Given the description of an element on the screen output the (x, y) to click on. 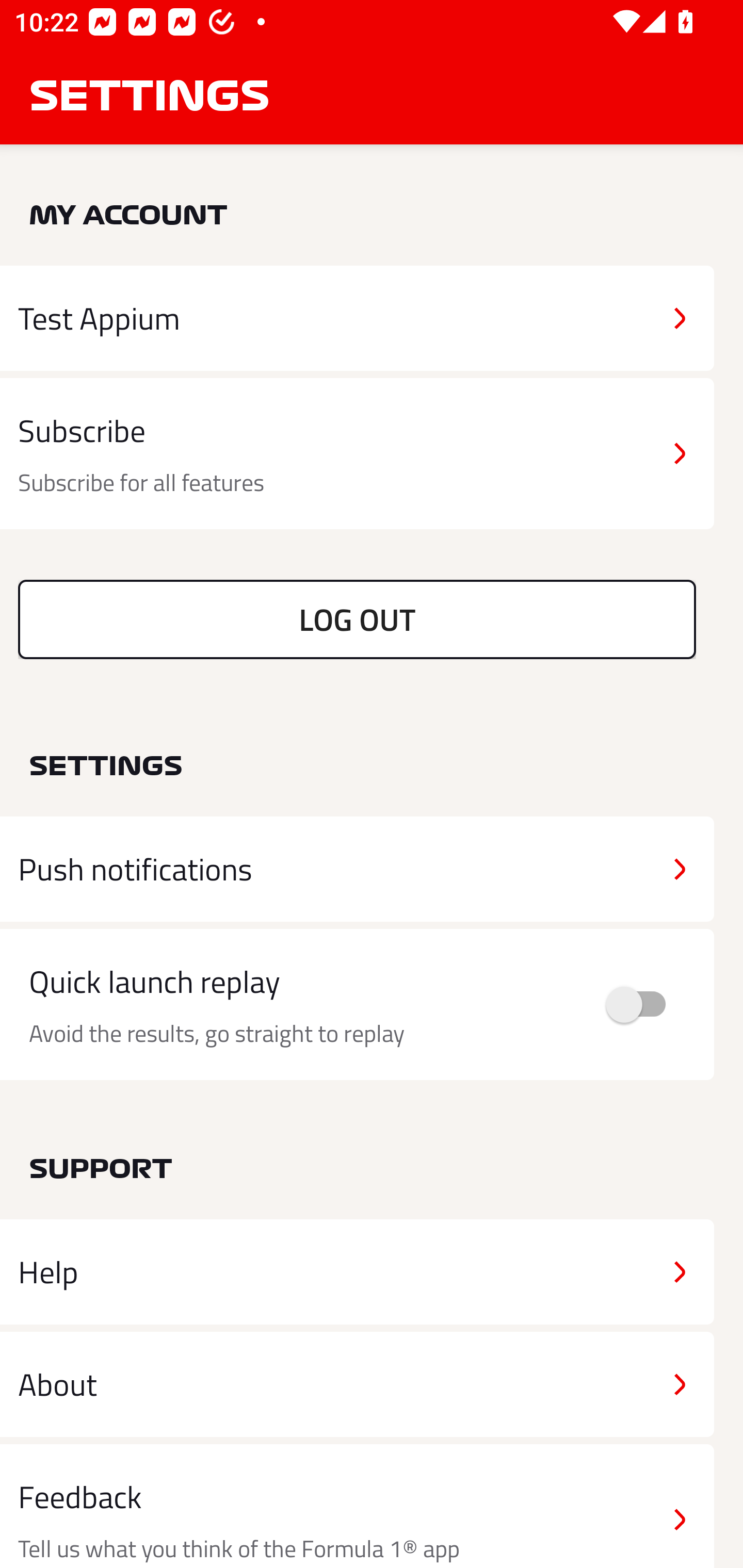
Test Appium (357, 317)
Subscribe Subscribe for all features (357, 453)
LOG OUT (356, 619)
Push notifications (357, 868)
Help (357, 1271)
About (357, 1383)
